Given the description of an element on the screen output the (x, y) to click on. 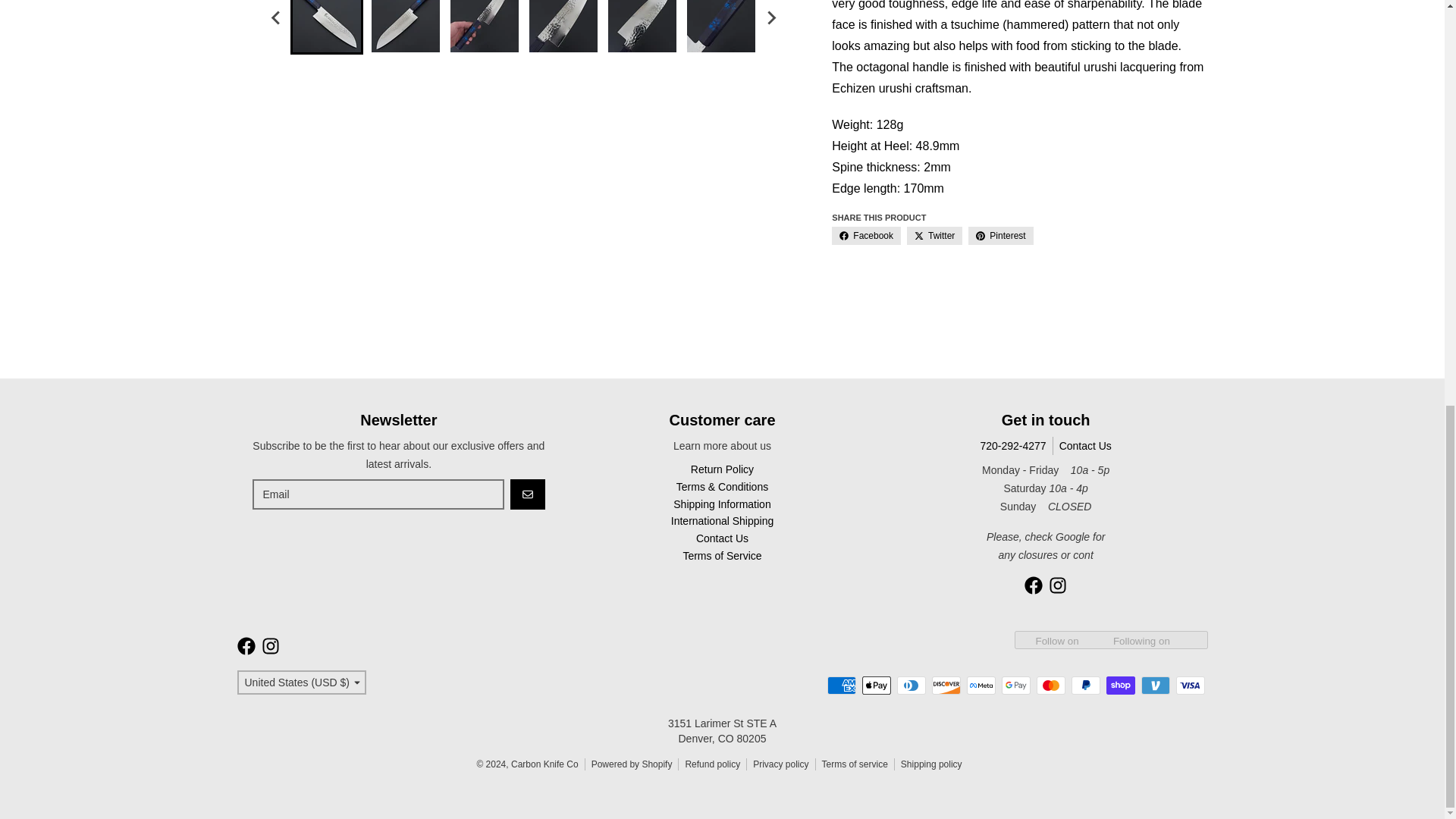
Facebook - Carbon Knife Co (1033, 585)
Instagram - Carbon Knife Co (269, 646)
Instagram - Carbon Knife Co (1057, 585)
Facebook - Carbon Knife Co (244, 646)
